Given the description of an element on the screen output the (x, y) to click on. 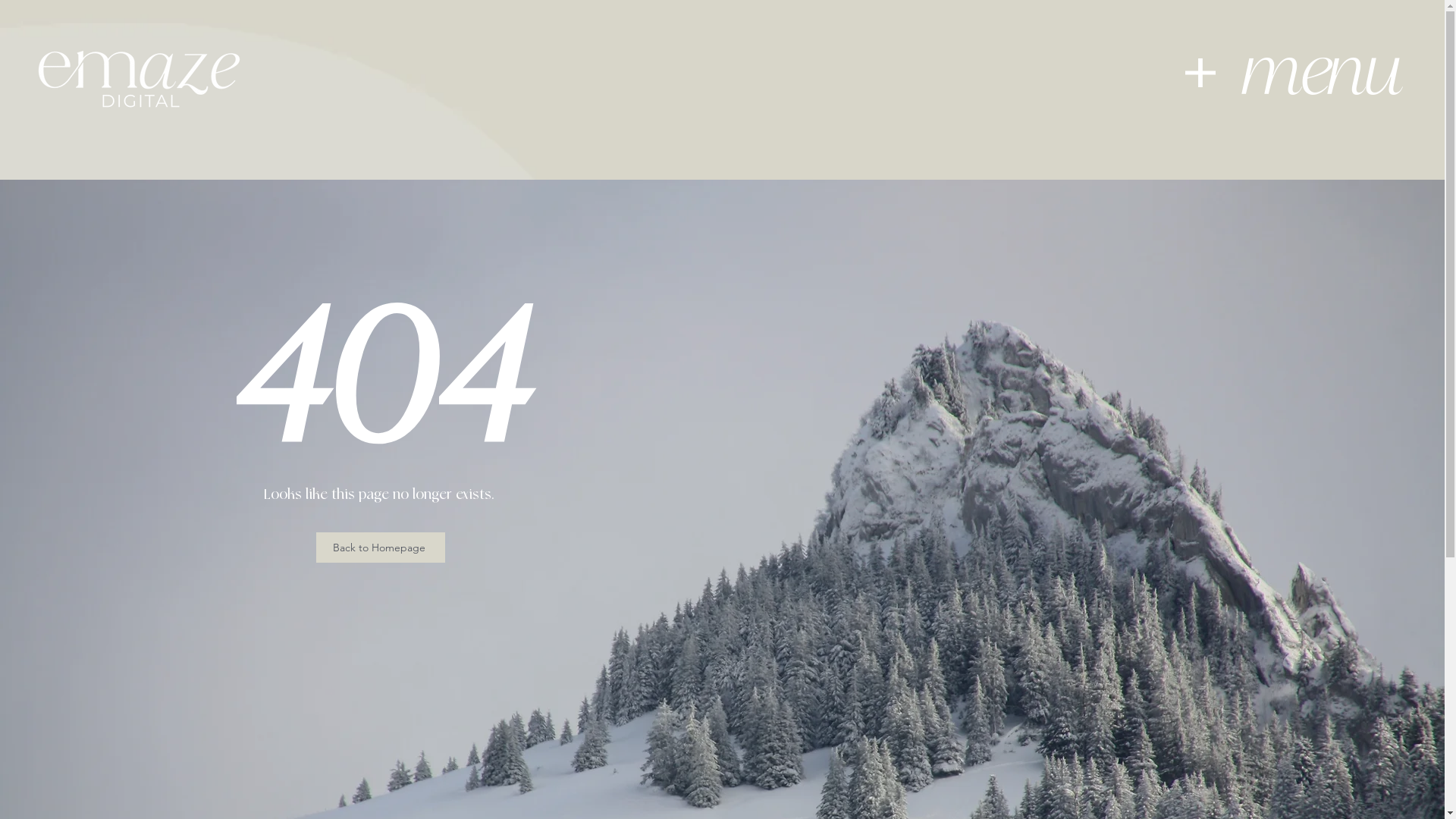
Back to Homepage Element type: text (380, 547)
menu Element type: text (1322, 72)
